Given the description of an element on the screen output the (x, y) to click on. 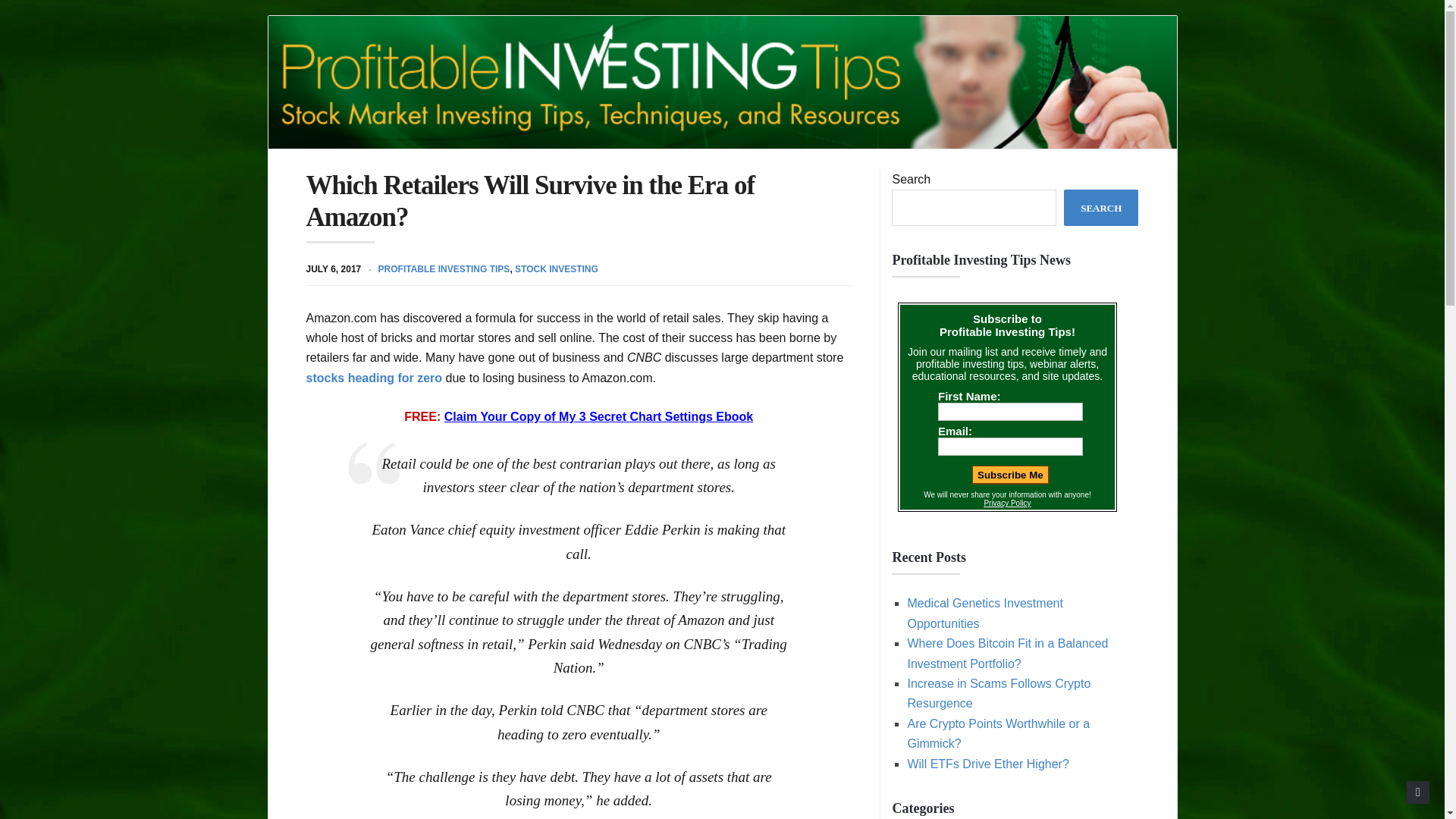
Medical Genetics Investment Opportunities (984, 613)
Profitable Investing Tips (721, 81)
Are Crypto Points Worthwhile or a Gimmick? (998, 733)
stocks heading for zero (373, 377)
Claim Your Copy of My 3 Secret Chart Settings Ebook (598, 416)
SEARCH (1101, 207)
PROFITABLE INVESTING TIPS (444, 268)
Increase in Scams Follows Crypto Resurgence (998, 693)
STOCK INVESTING (556, 268)
Where Does Bitcoin Fit in a Balanced Investment Portfolio? (1007, 653)
